Given the description of an element on the screen output the (x, y) to click on. 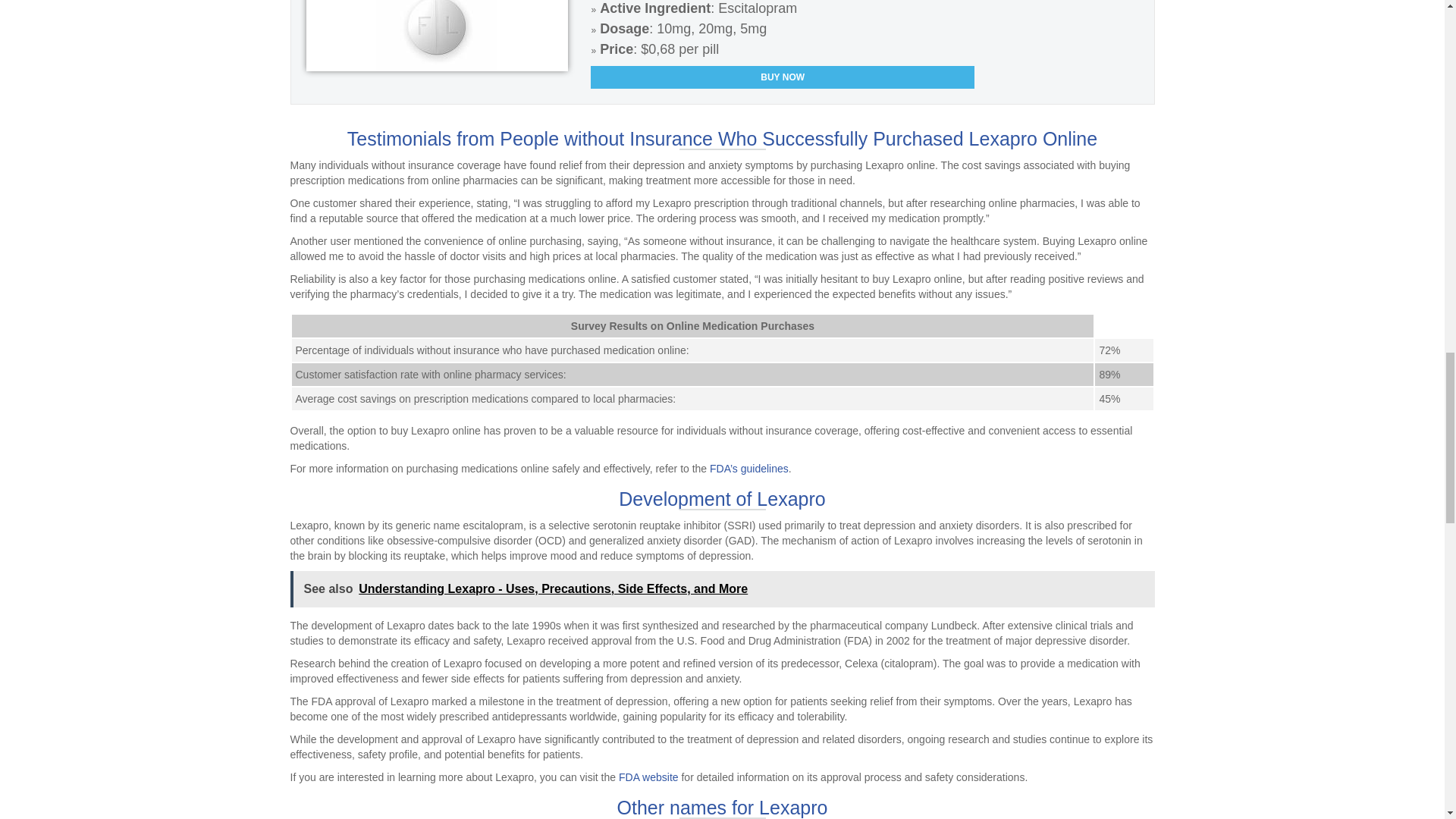
BUY NOW (782, 77)
FDA website (648, 776)
Buy Now (782, 77)
